Given the description of an element on the screen output the (x, y) to click on. 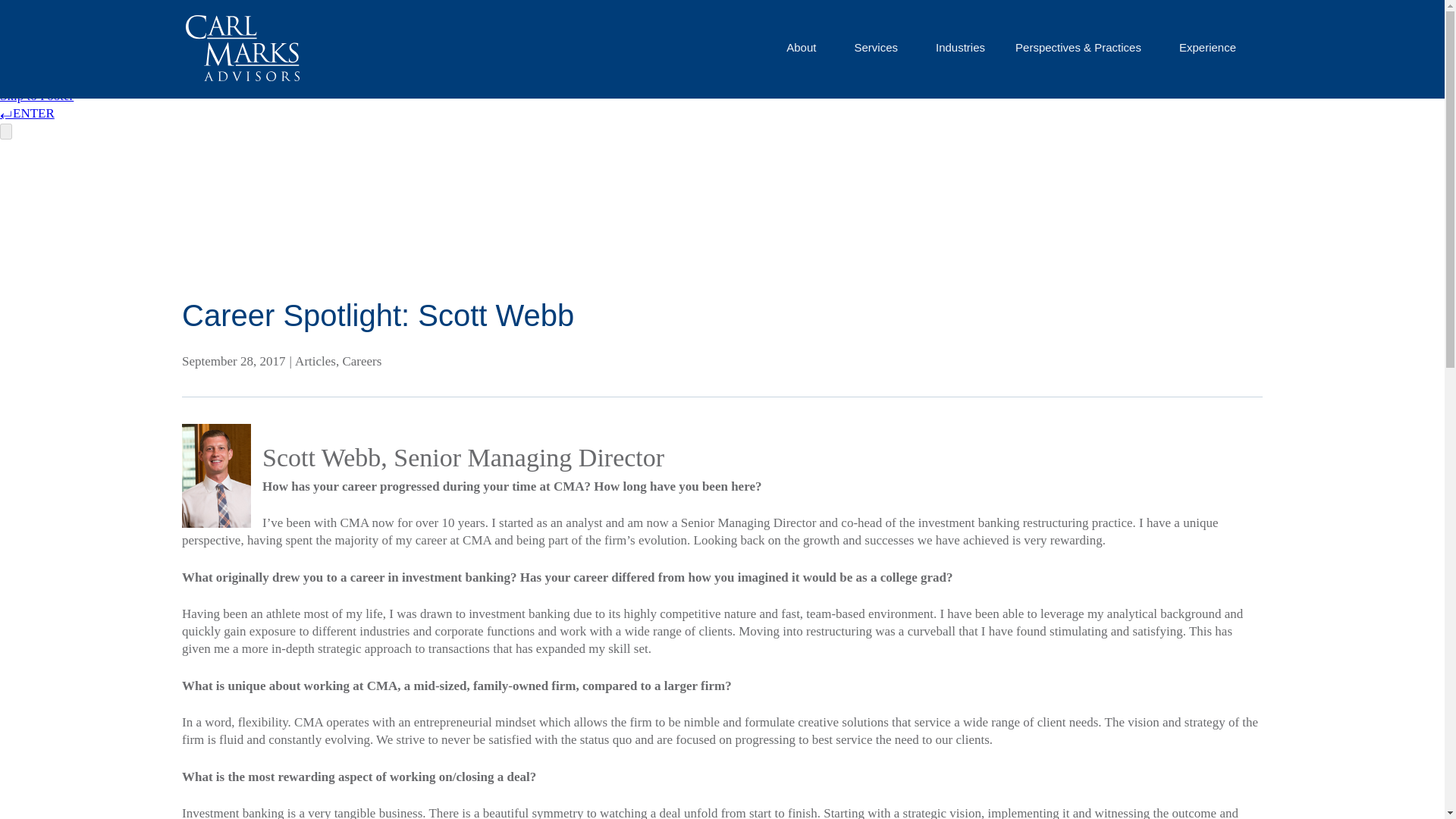
Services (879, 47)
Industries (960, 47)
About (804, 47)
Experience (1211, 47)
